Given the description of an element on the screen output the (x, y) to click on. 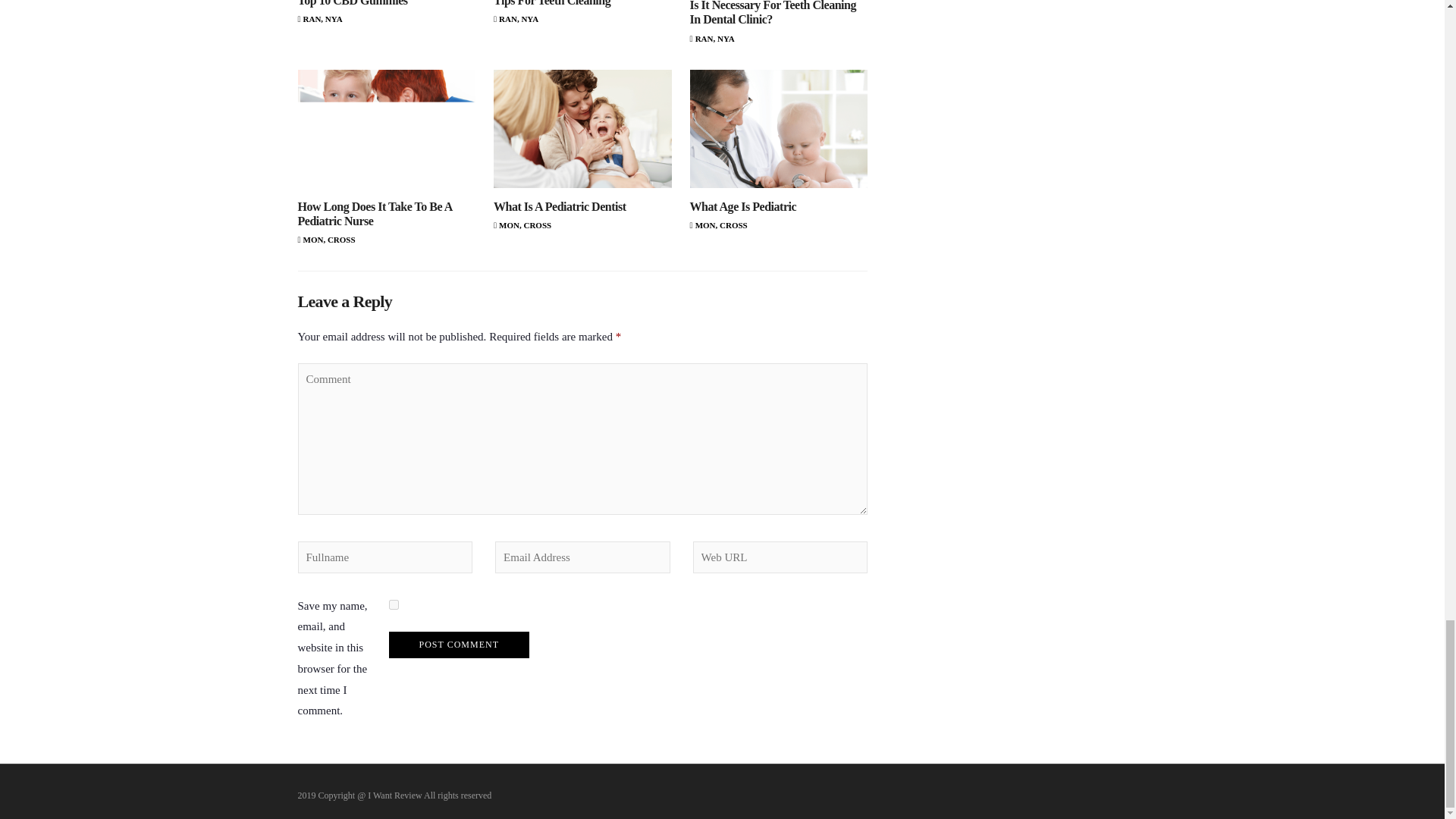
RAN, NYA (515, 18)
RAN, NYA (712, 38)
What is a pediatric dentist (582, 128)
yes (392, 604)
Is It Necessary For Teeth Cleaning In Dental Clinic? (773, 12)
What age is pediatric (778, 128)
Top 10 CBD Gummies (352, 3)
Tips For Teeth Cleaning (551, 3)
Post Comment (458, 644)
RAN, NYA (319, 18)
